Given the description of an element on the screen output the (x, y) to click on. 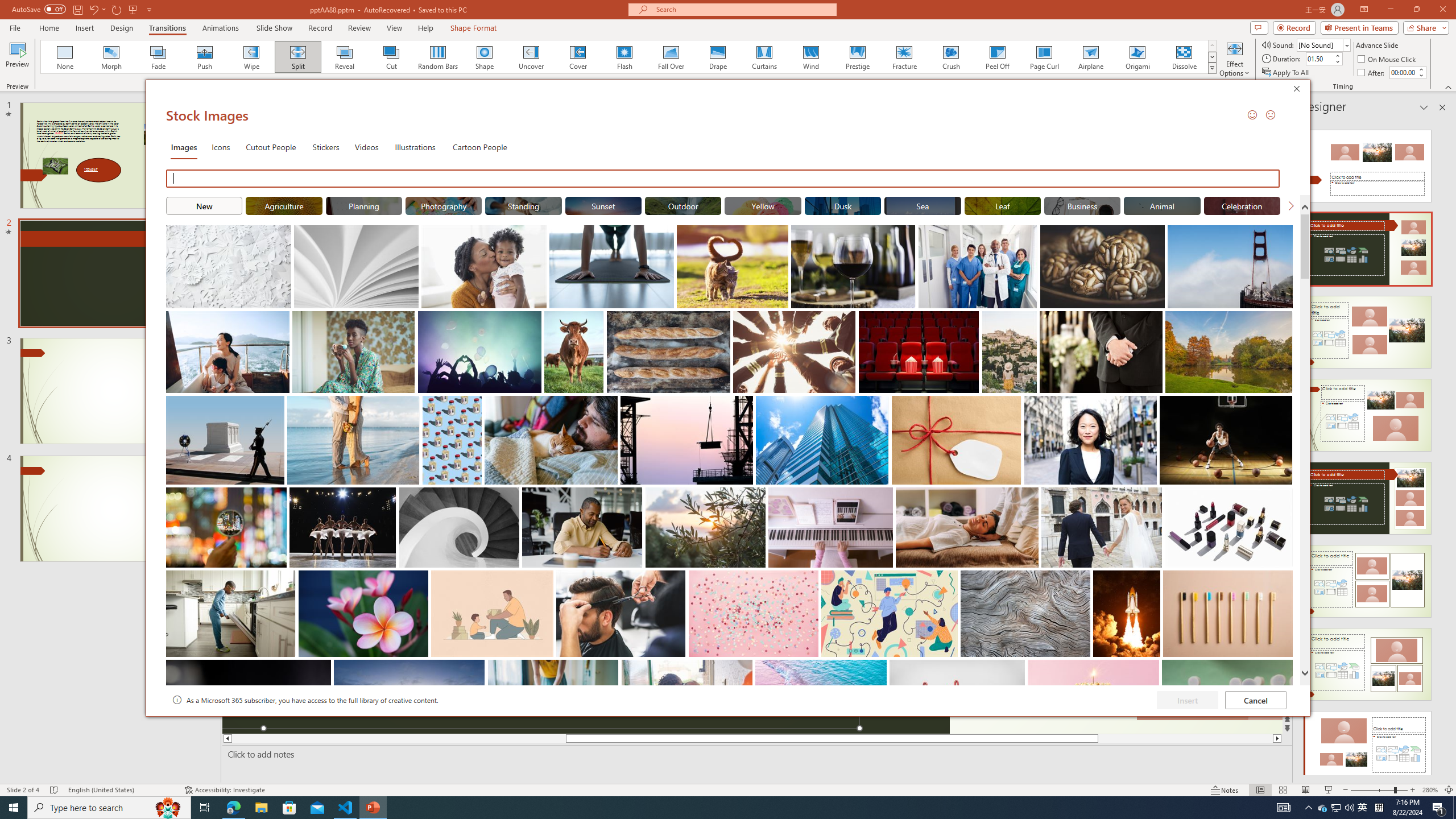
Preview (17, 58)
After (1372, 72)
"Yellow" Stock Images. (762, 205)
Send a Frown (1269, 114)
Open (1345, 44)
Shape (484, 56)
More (1420, 69)
